Given the description of an element on the screen output the (x, y) to click on. 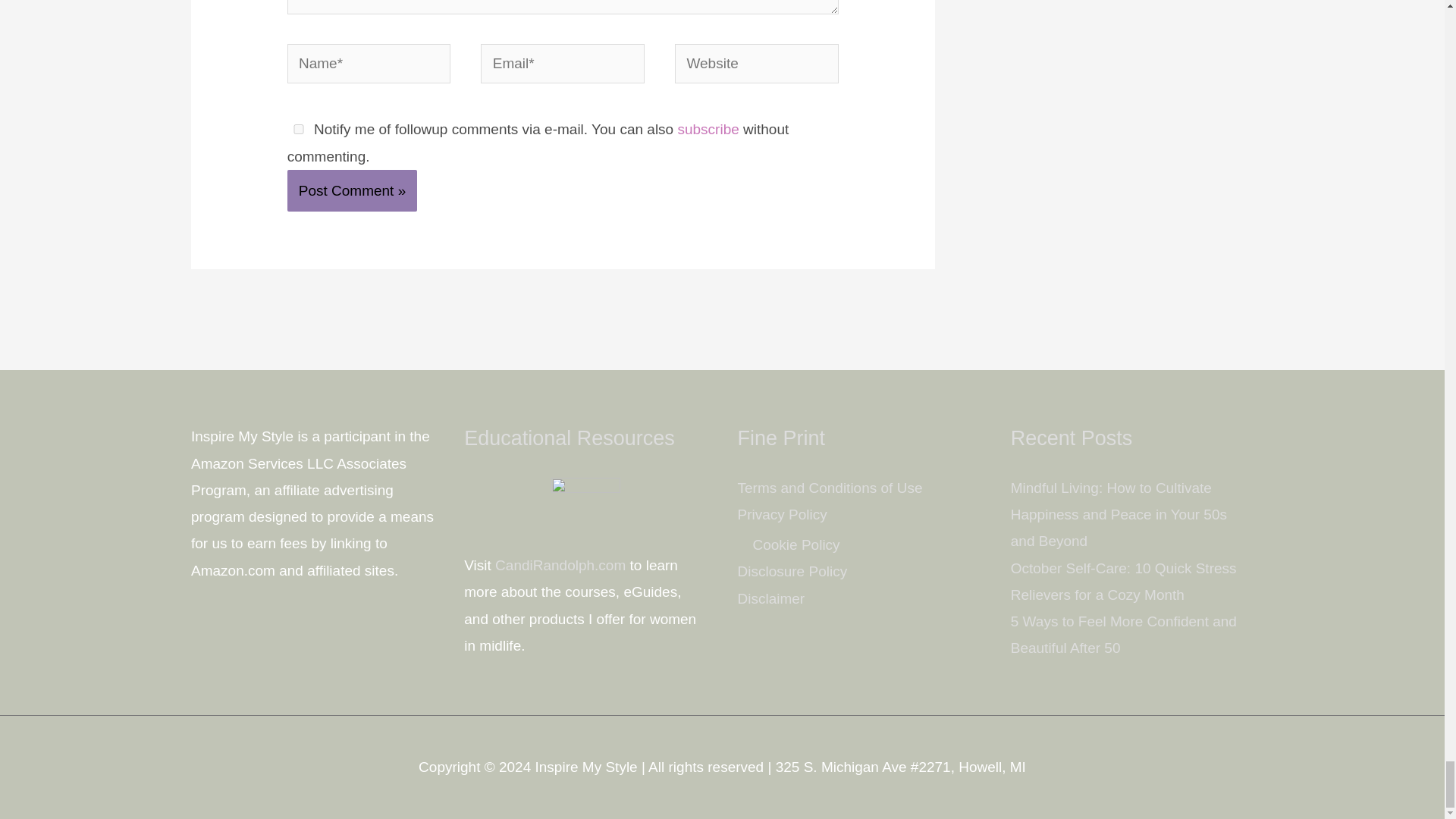
yes (298, 129)
